Given the description of an element on the screen output the (x, y) to click on. 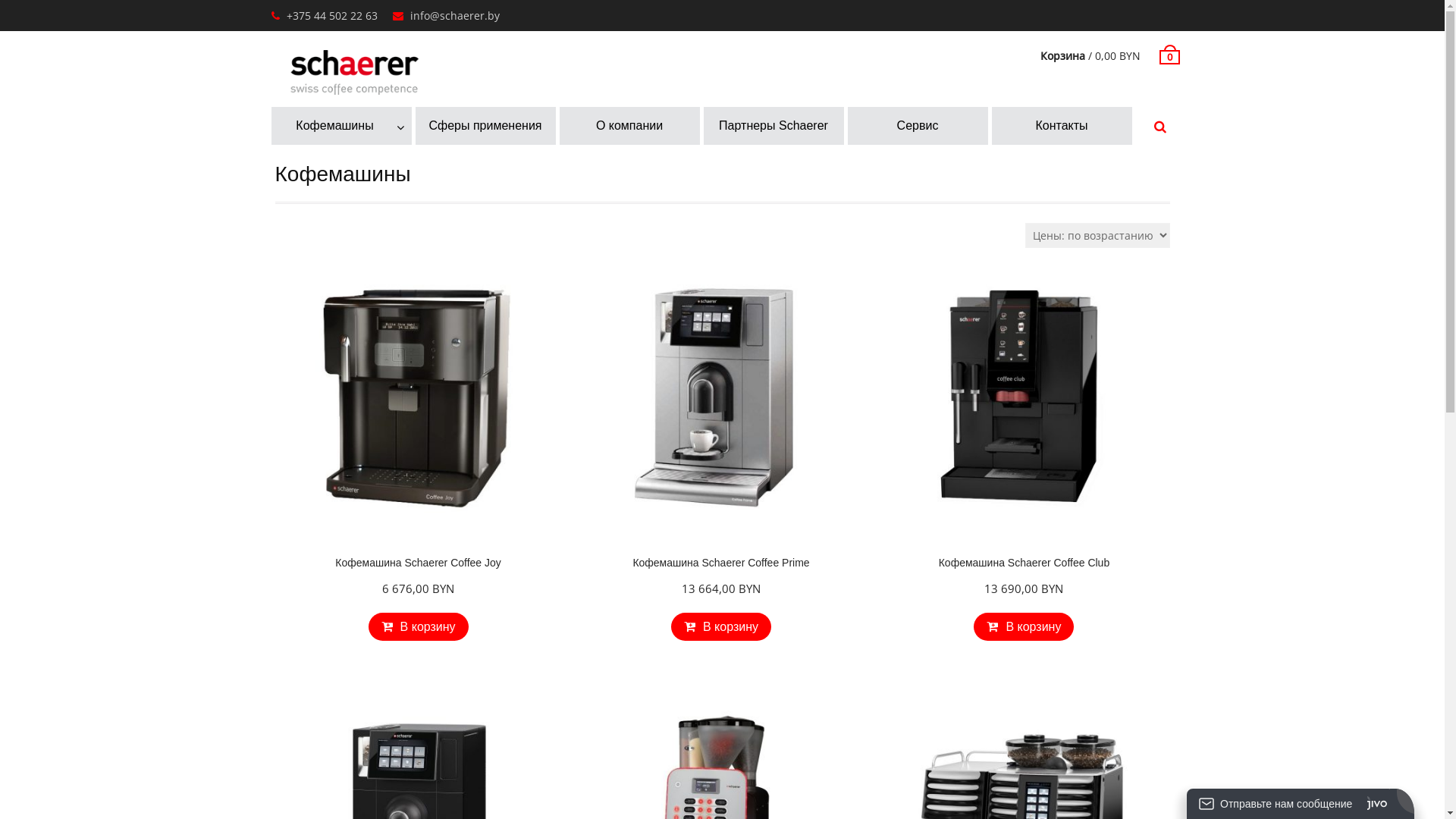
+375 44 502 22 63 Element type: text (331, 15)
info@schaerer.by Element type: text (453, 15)
